Given the description of an element on the screen output the (x, y) to click on. 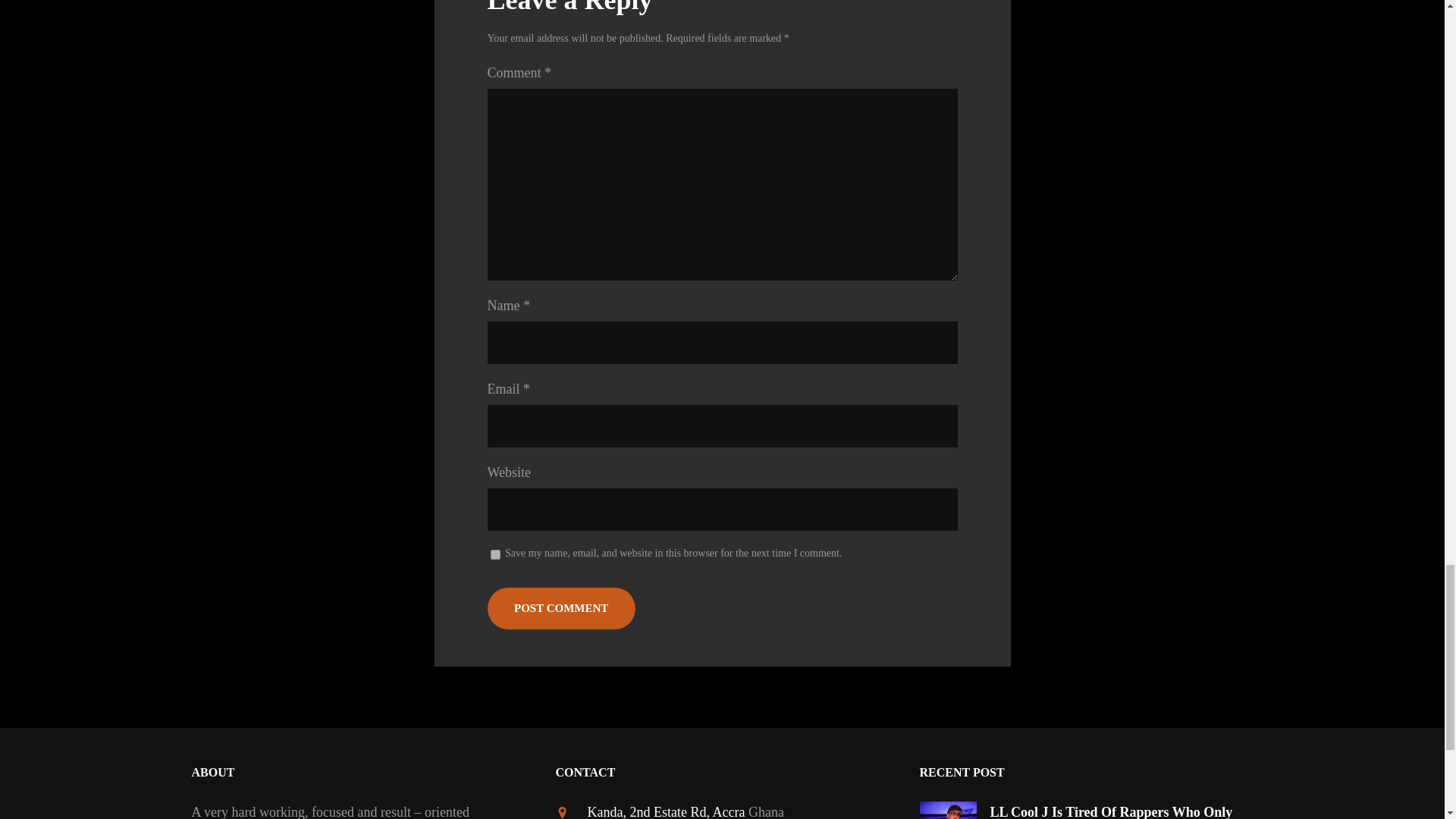
Post Comment (560, 608)
Kanda, 2nd Estate Rd, Accra (665, 811)
Post Comment (560, 608)
